Given the description of an element on the screen output the (x, y) to click on. 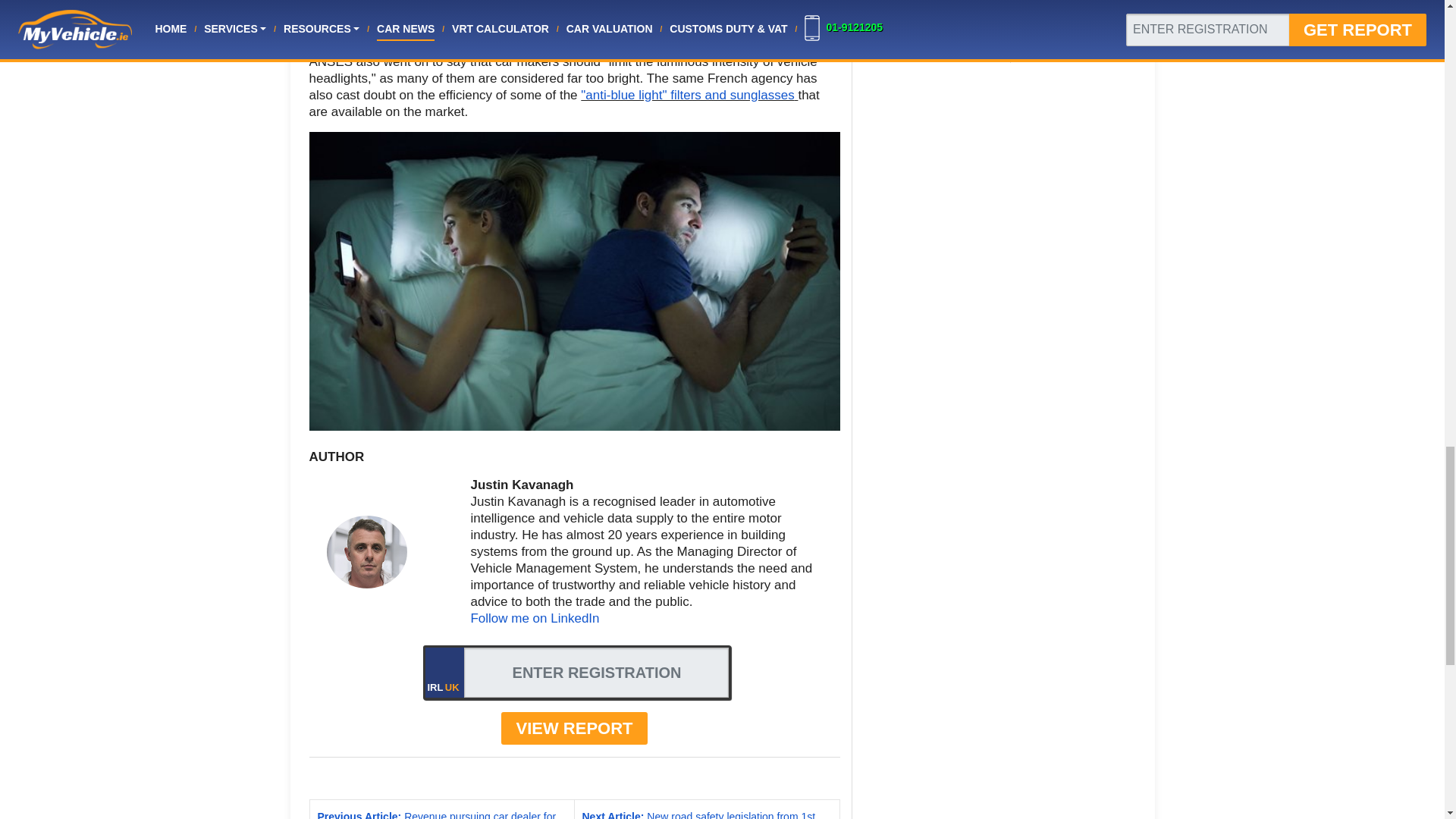
Follow me on LinkedIn (534, 617)
VIEW REPORT (573, 727)
"anti-blue light" filters and sunglasses (686, 94)
